Given the description of an element on the screen output the (x, y) to click on. 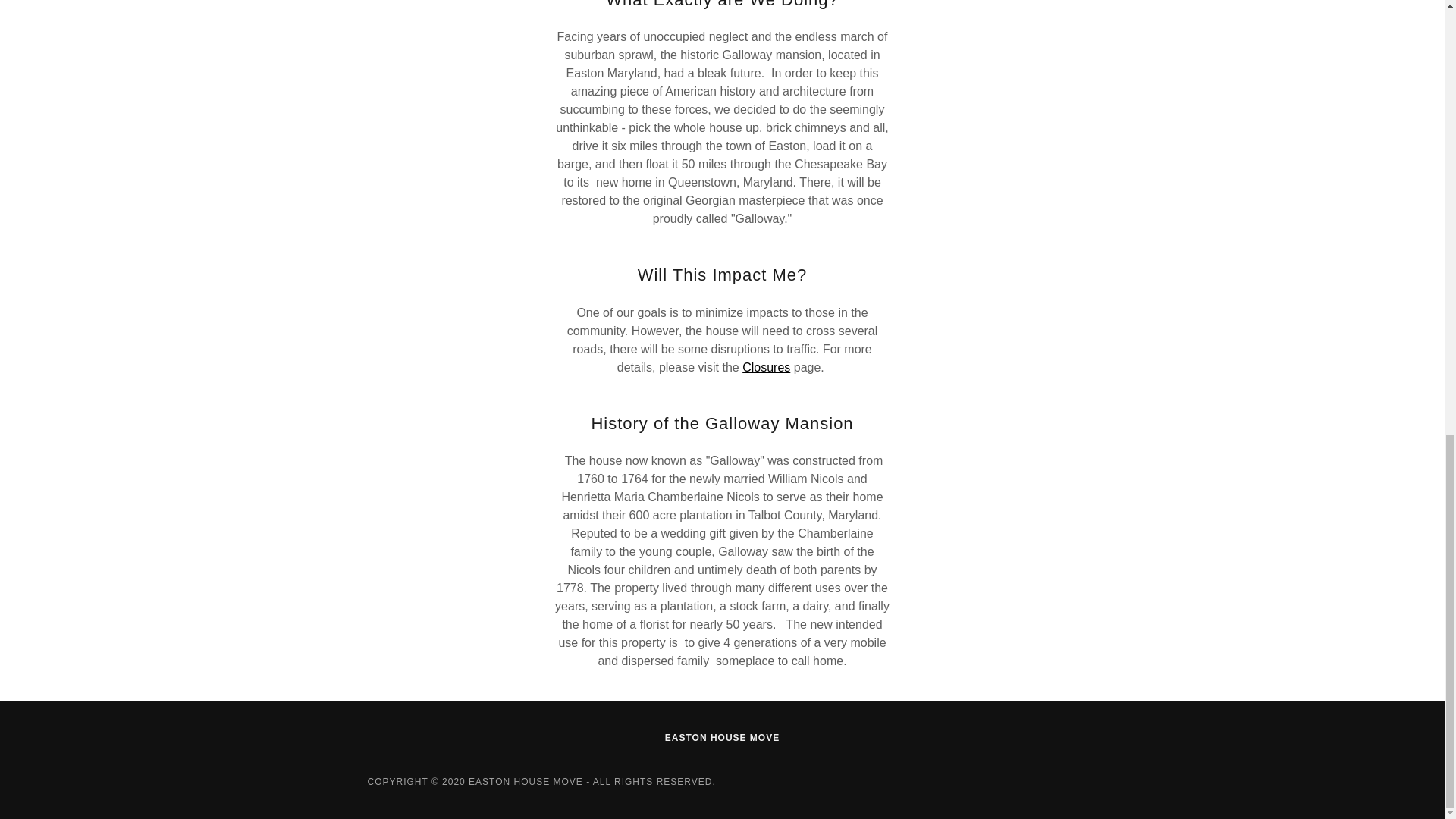
Closures (766, 366)
